Given the description of an element on the screen output the (x, y) to click on. 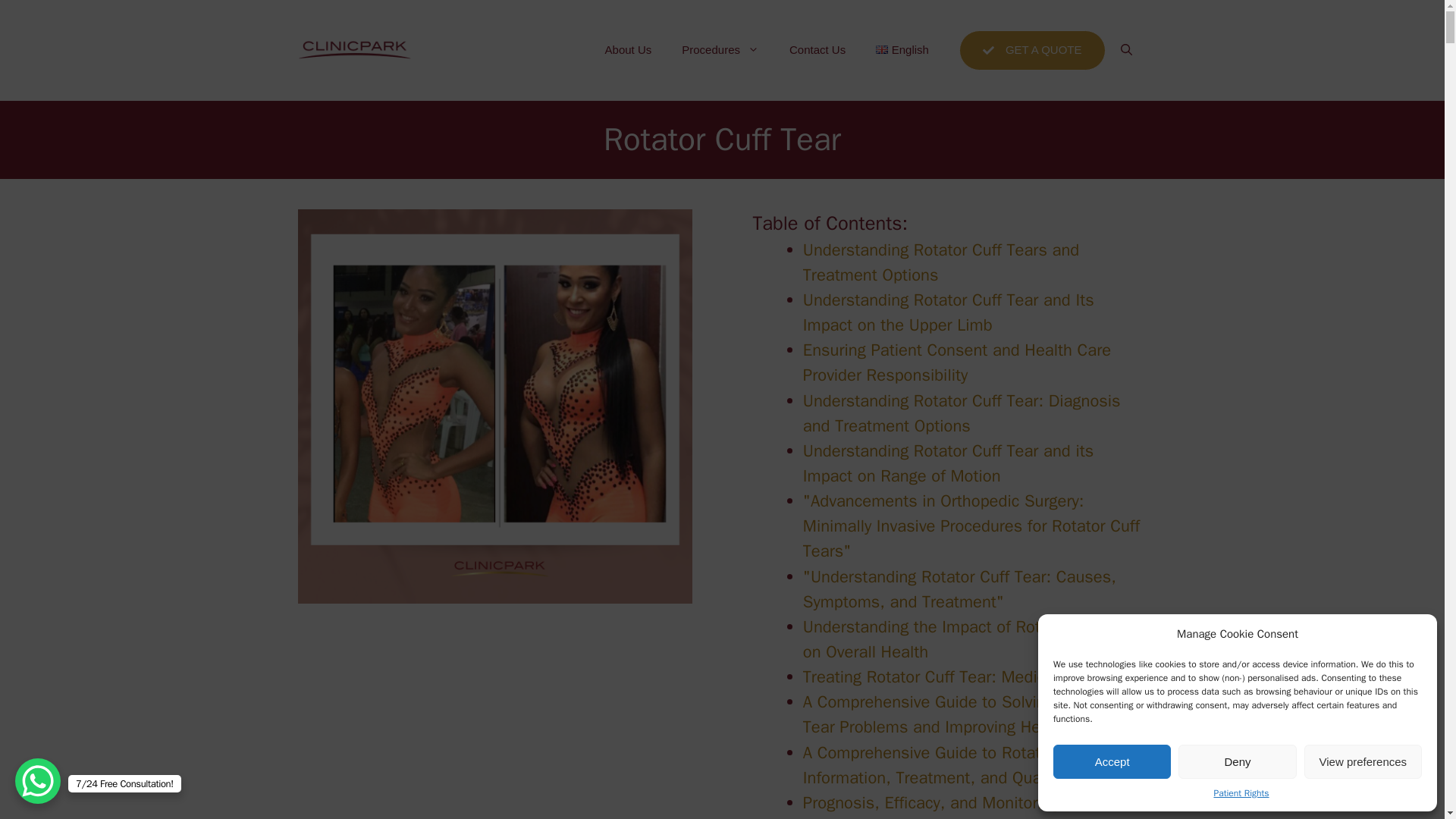
Contact Us (817, 49)
View preferences (1363, 761)
English (901, 49)
Accept (1111, 761)
Patient Rights (1240, 793)
Procedures (720, 49)
Deny (1236, 761)
About Us (627, 49)
GET A QUOTE (1032, 50)
